Given the description of an element on the screen output the (x, y) to click on. 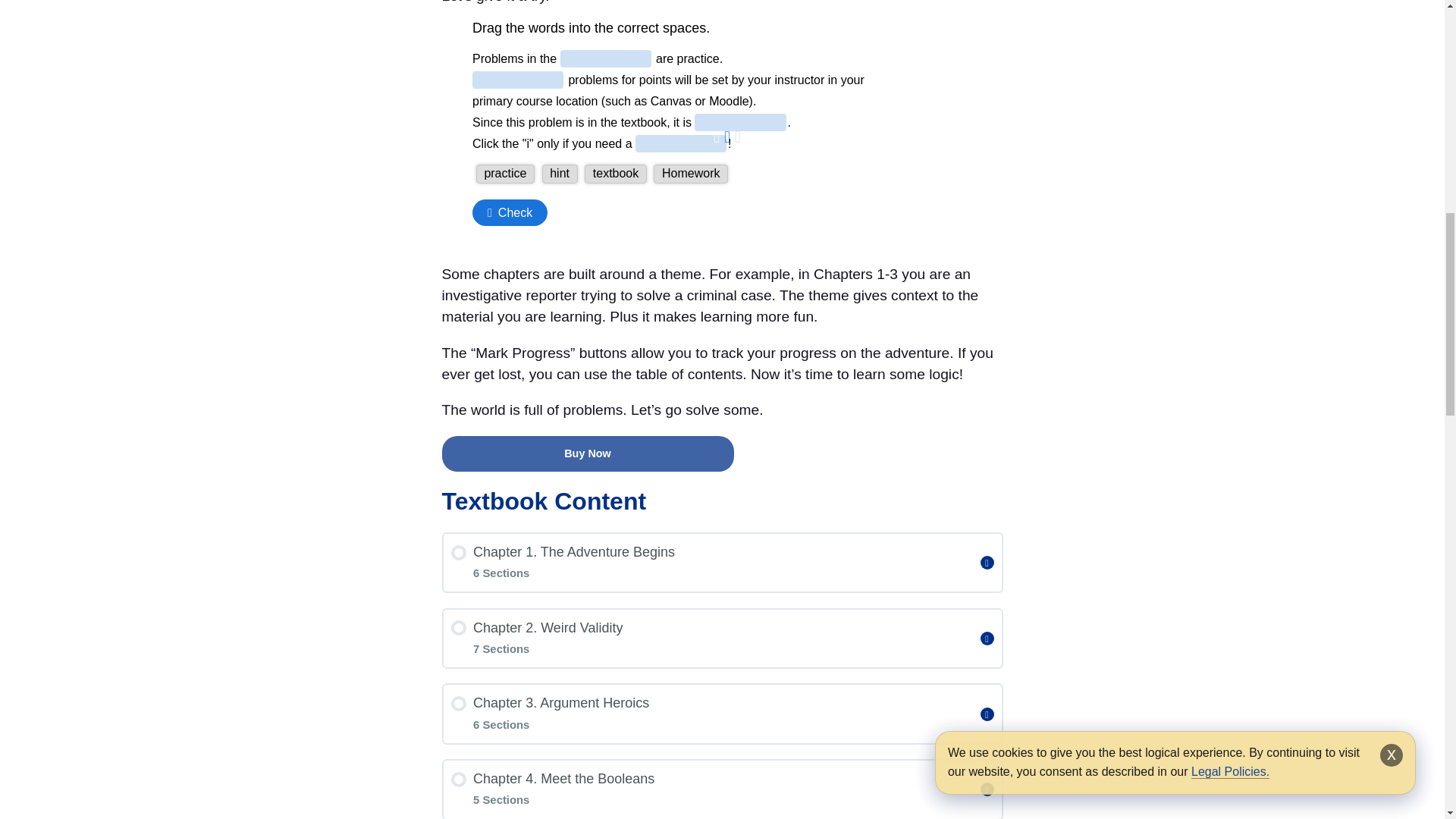
006 (674, 129)
Buy Now (587, 453)
Buy Now (587, 453)
